Given the description of an element on the screen output the (x, y) to click on. 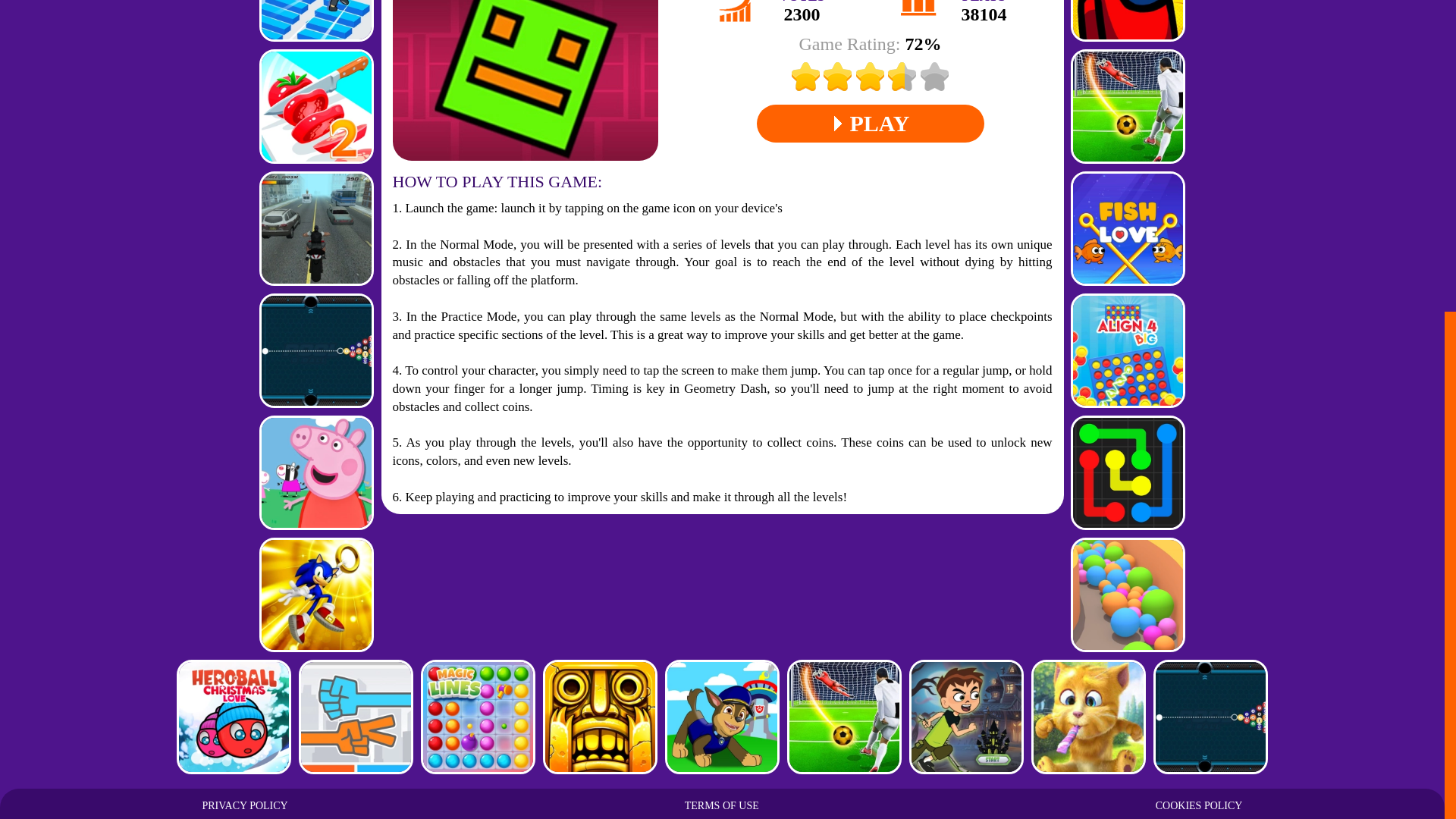
TERMS OF USE (721, 301)
PRIVACY POLICY (244, 301)
PLAY (870, 123)
